Given the description of an element on the screen output the (x, y) to click on. 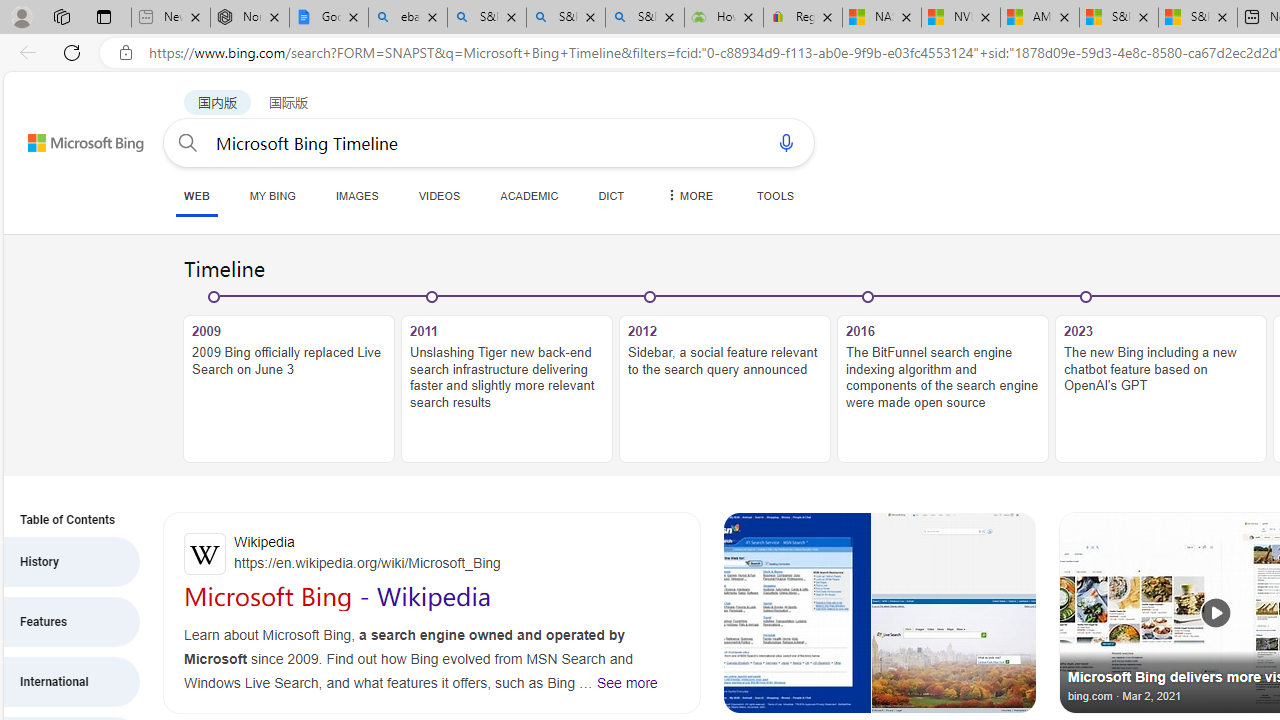
Back to Bing search (73, 138)
20092009 Bing officially replaced Live Search on June 3 (289, 378)
MY BING (272, 195)
S&P 500 - Search (566, 17)
2009 2009 Bing officially replaced Live Search on June 3 (289, 389)
